Given the description of an element on the screen output the (x, y) to click on. 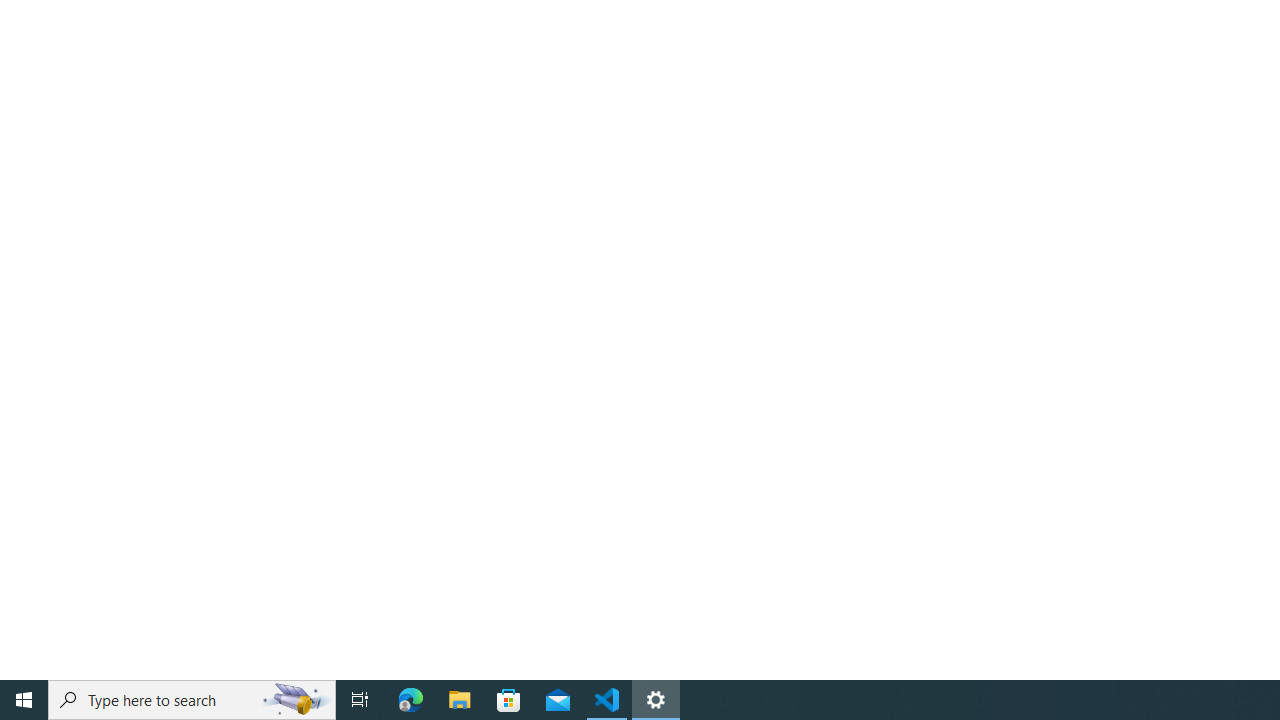
Settings - 1 running window (656, 699)
